Given the description of an element on the screen output the (x, y) to click on. 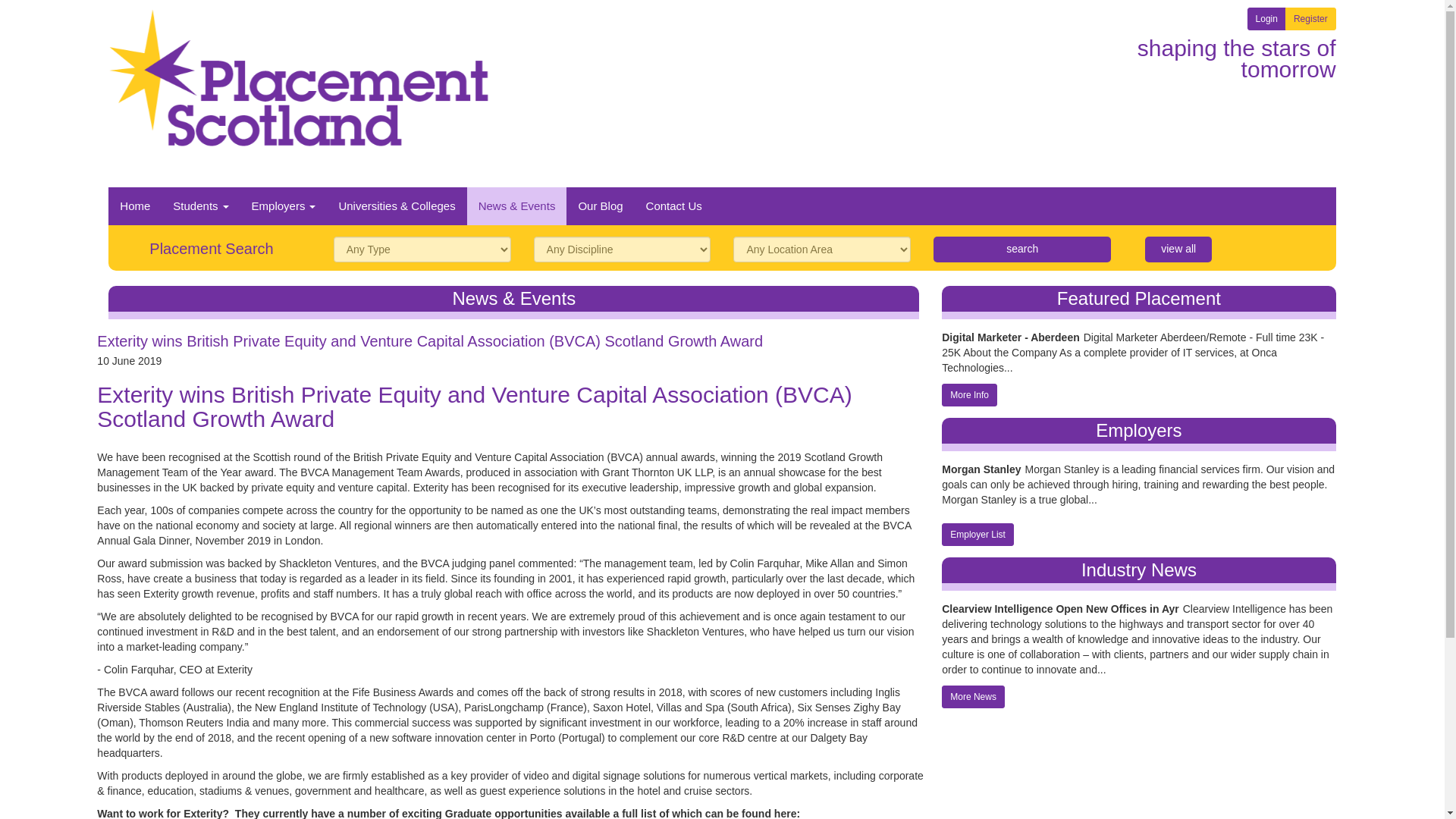
Morgan Stanley (981, 371)
Employer List (977, 435)
Students (200, 106)
Contact Us (673, 106)
Clearview Intelligence Open New Offices in Ayr (1060, 510)
More News (973, 598)
Search (1021, 149)
More Info (969, 295)
Employers (283, 106)
Search (1021, 149)
